Given the description of an element on the screen output the (x, y) to click on. 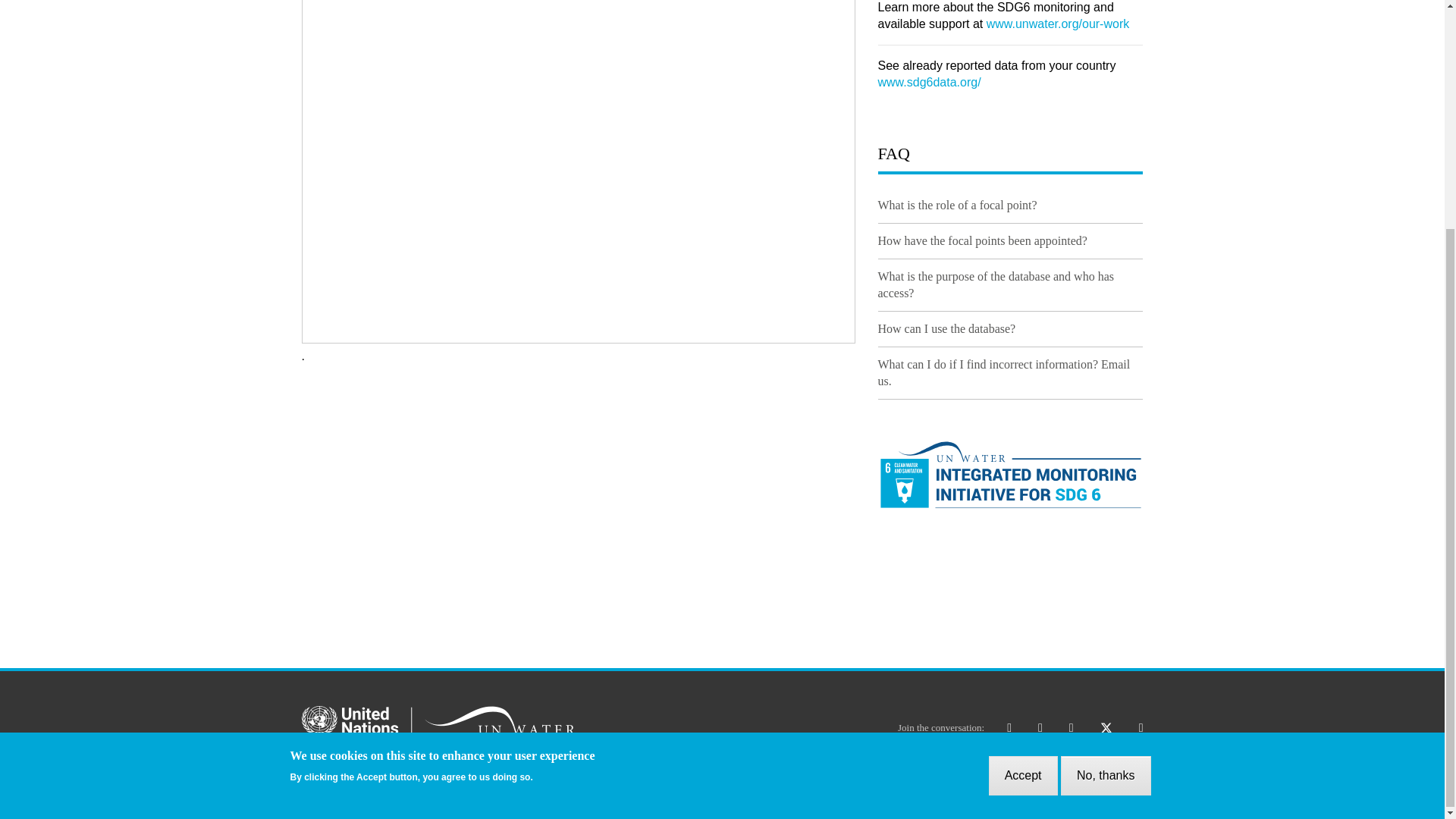
What is the purpose of the database and who has access? (995, 284)
Home (438, 719)
PRIVACY NOTICE (1004, 773)
Accept (1023, 466)
Twitter (1106, 727)
CONTACT (735, 773)
TERMS OF USE (1106, 773)
What is the role of a focal point? (956, 205)
How can I use the database? (946, 328)
How have the focal points been appointed? (982, 240)
